Given the description of an element on the screen output the (x, y) to click on. 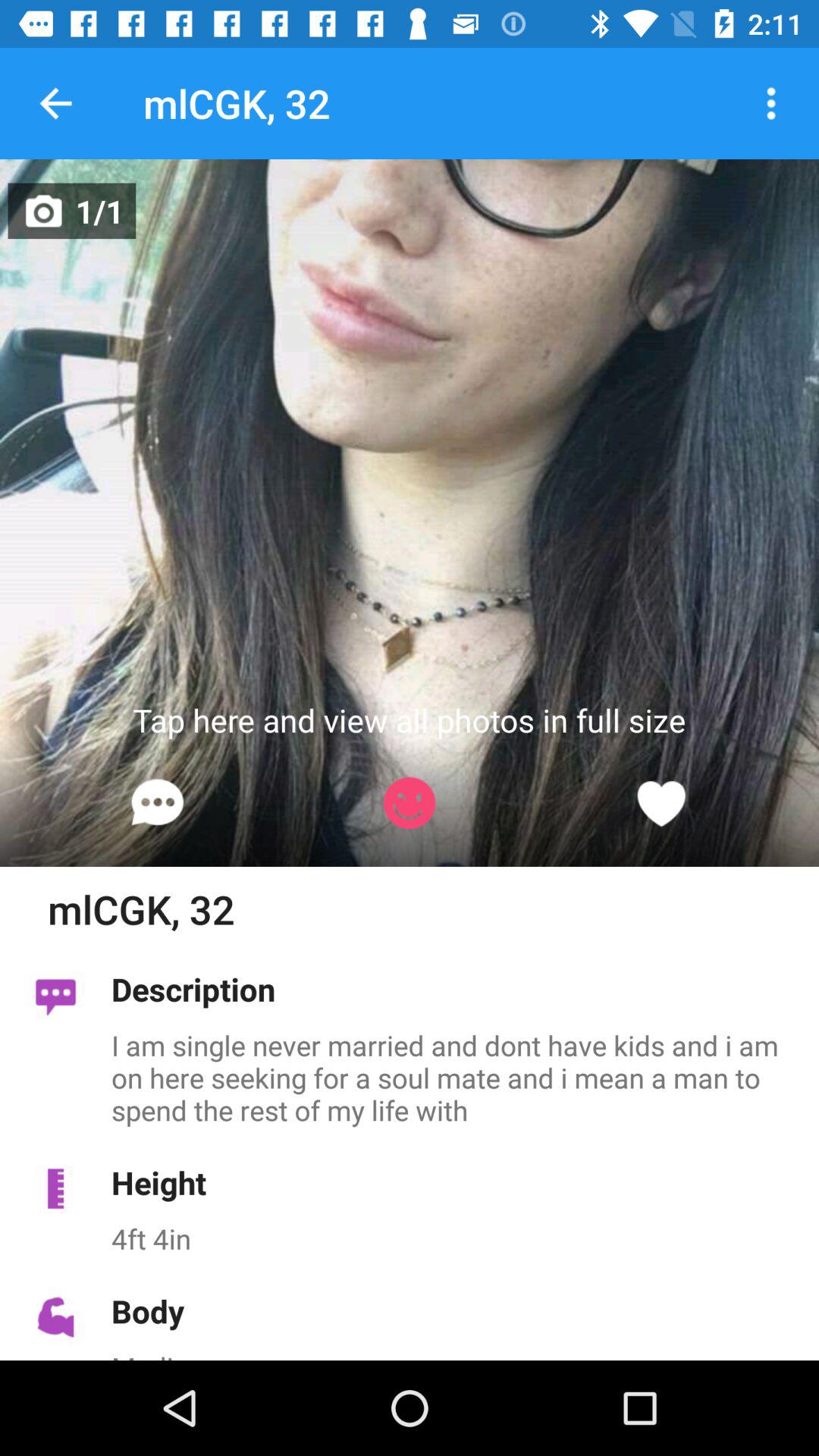
open the item at the top right corner (771, 103)
